Given the description of an element on the screen output the (x, y) to click on. 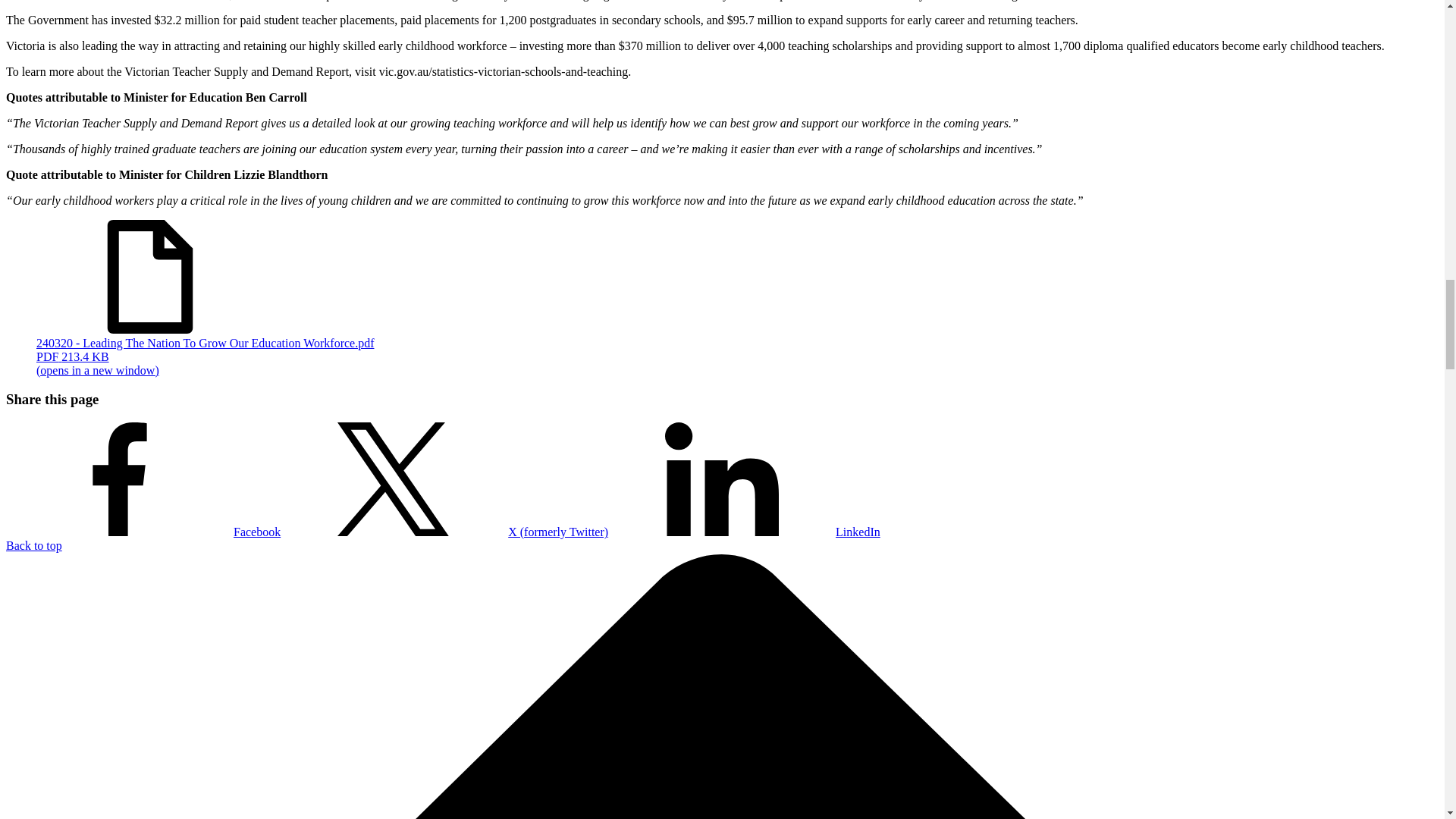
LinkedIn (744, 531)
Facebook (143, 531)
